Given the description of an element on the screen output the (x, y) to click on. 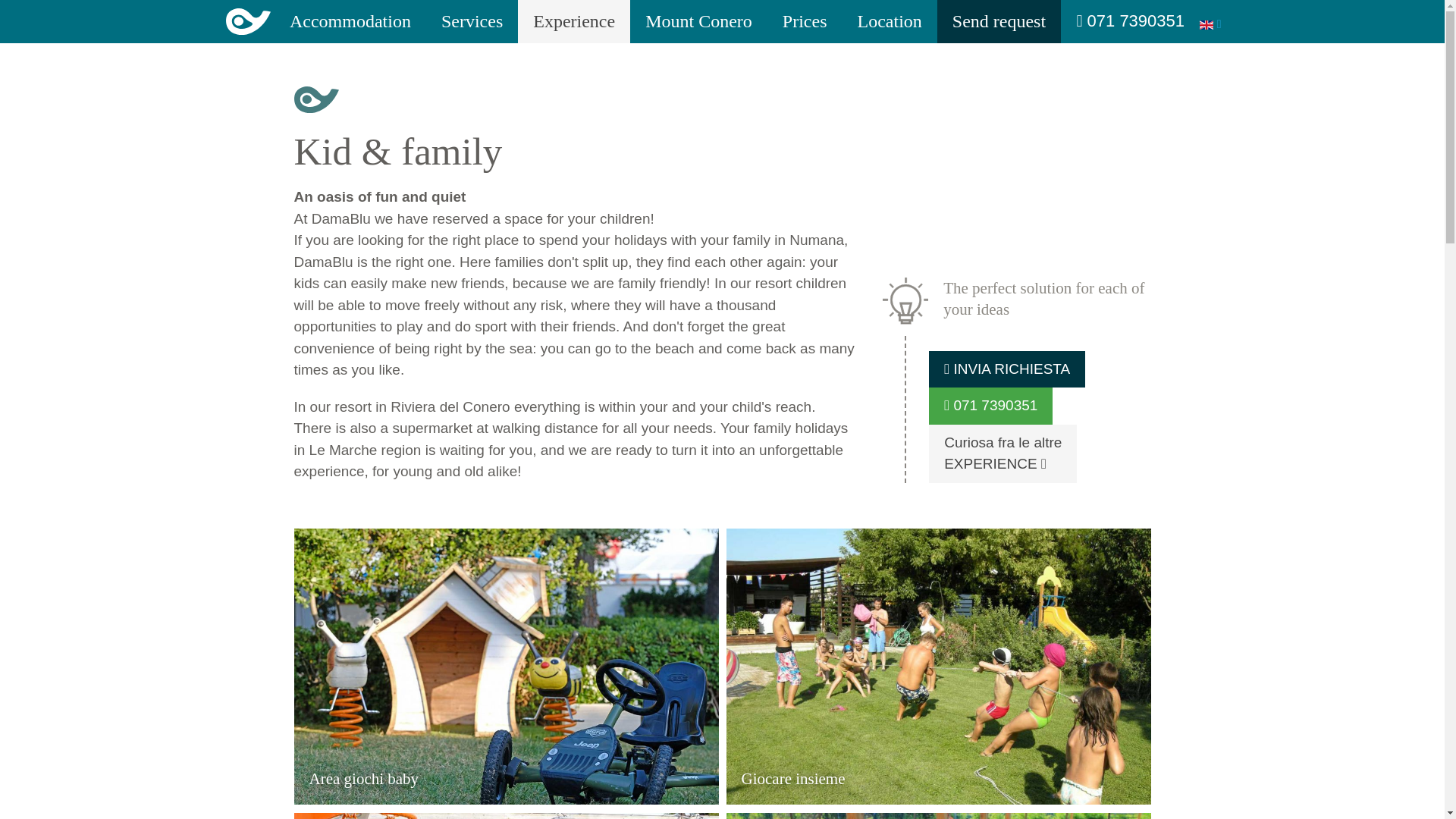
Prices (805, 21)
Location (1002, 454)
071 7390351 (888, 21)
En Gb (990, 406)
Services (1210, 23)
Location (472, 21)
Send request (888, 21)
Experience (999, 21)
Prices (574, 21)
